Given the description of an element on the screen output the (x, y) to click on. 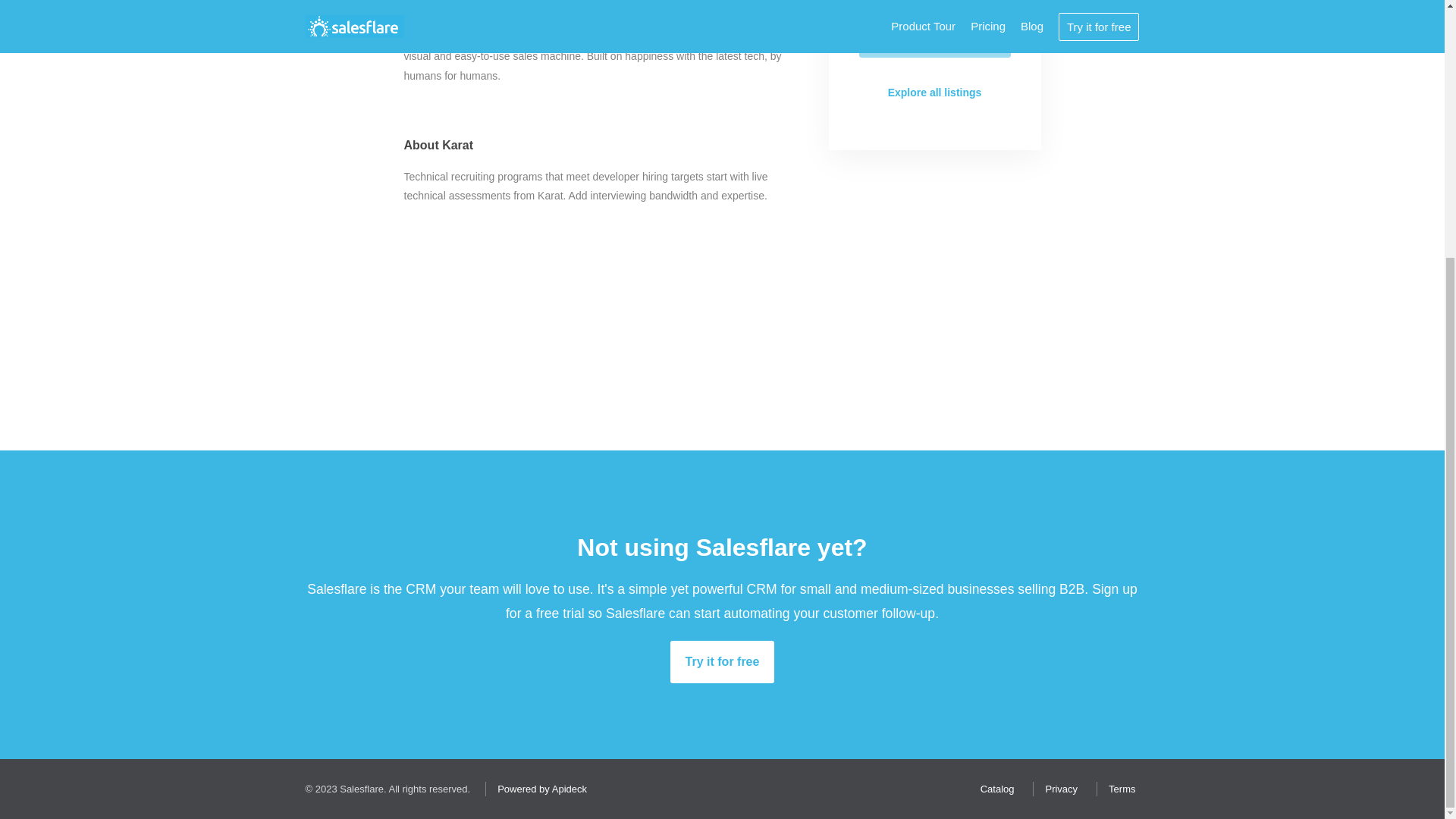
Try it for free (721, 661)
Request this listing (934, 37)
Explore all listings (934, 92)
Catalog (993, 789)
Privacy (1057, 789)
Powered by Apideck (538, 789)
Terms (1117, 789)
